Given the description of an element on the screen output the (x, y) to click on. 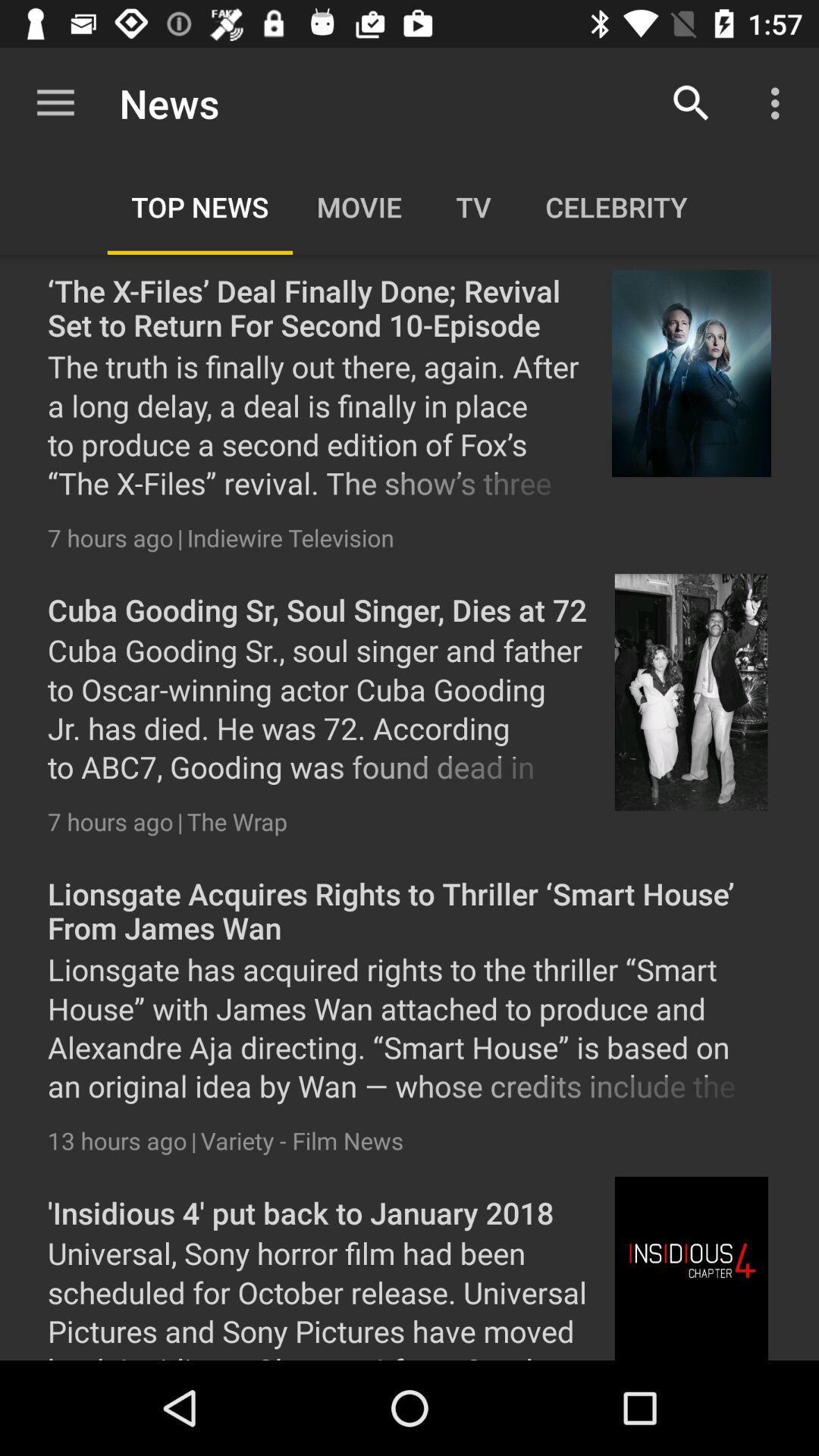
select the icon which is next to search icon (779, 103)
select all the categories (409, 206)
